Given the description of an element on the screen output the (x, y) to click on. 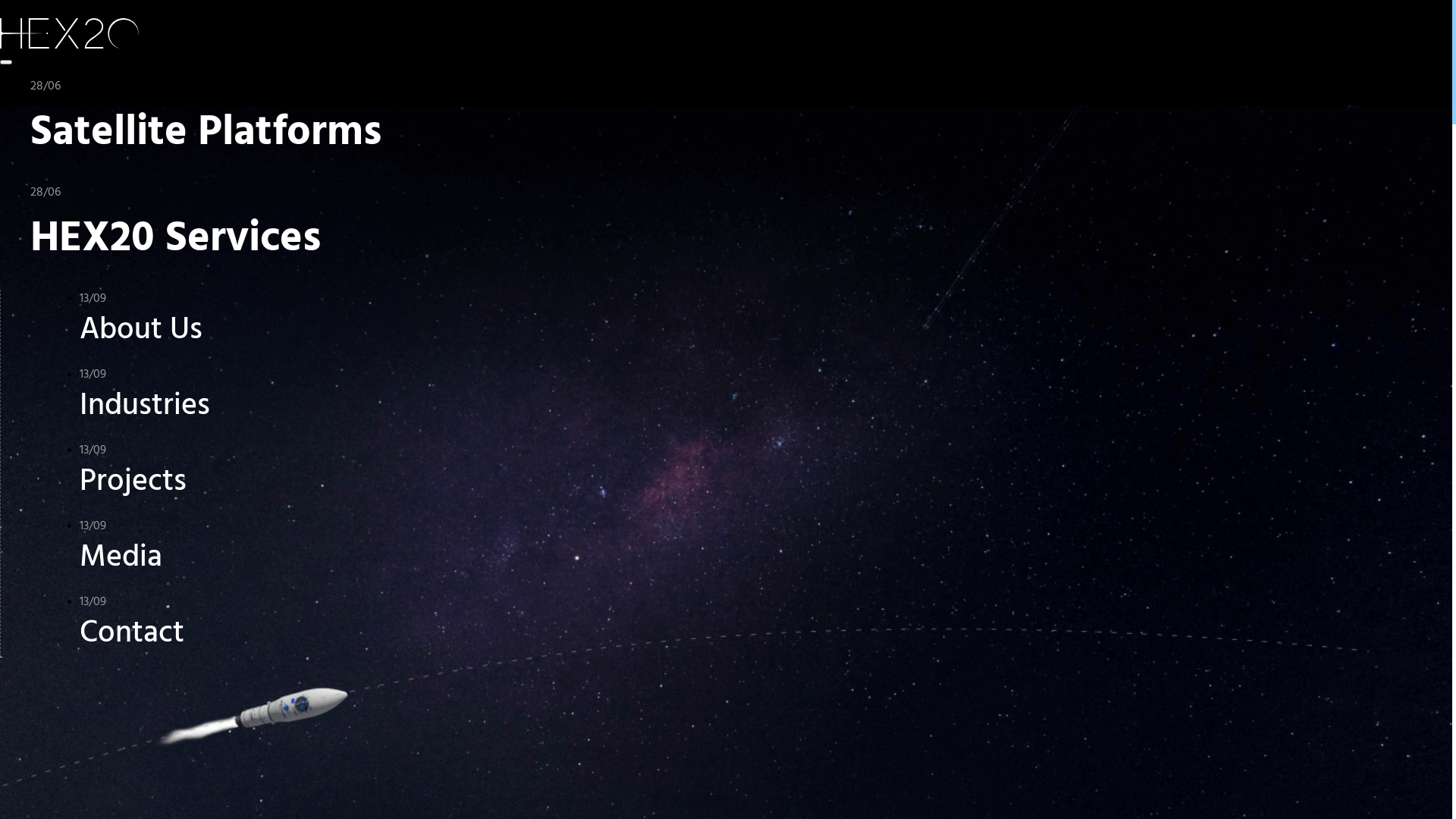
28/06
HEX20 Services Element type: text (450, 228)
28/06
Satellite Platforms Element type: text (450, 122)
13/09
Contact Element type: text (354, 625)
HEX20 | Defense & Space Technology Company Element type: hover (69, 33)
13/09
Projects Element type: text (354, 473)
PRODUCTS Element type: text (61, 78)
Previous Element type: text (28, 581)
13/09
About Us Element type: text (354, 321)
HEX20 SERVICES Element type: text (87, 93)
13/09
Industries Element type: text (354, 397)
Read More Element type: text (1109, 409)
Next Element type: text (63, 581)
HEX20 | Defense & Space Technology Company Element type: hover (75, 36)
13/09
Media Element type: text (354, 549)
